Given the description of an element on the screen output the (x, y) to click on. 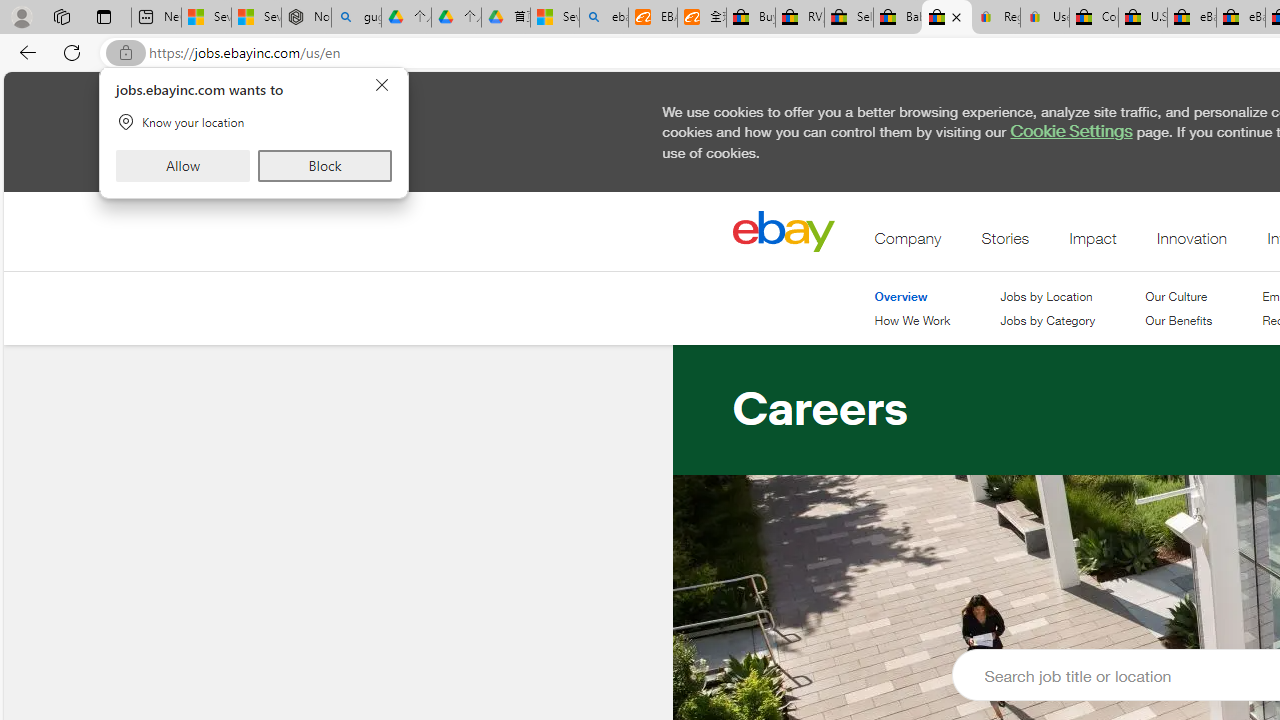
RV, Trailer & Camper Steps & Ladders for sale | eBay (799, 17)
How We Work (912, 321)
Cookie Settings (1070, 131)
Jobs by Category (1047, 321)
Overview (901, 296)
Company (908, 243)
Impact (1092, 243)
Allow (182, 165)
Innovation (1191, 243)
Our Benefits (1179, 321)
Home (783, 231)
